Given the description of an element on the screen output the (x, y) to click on. 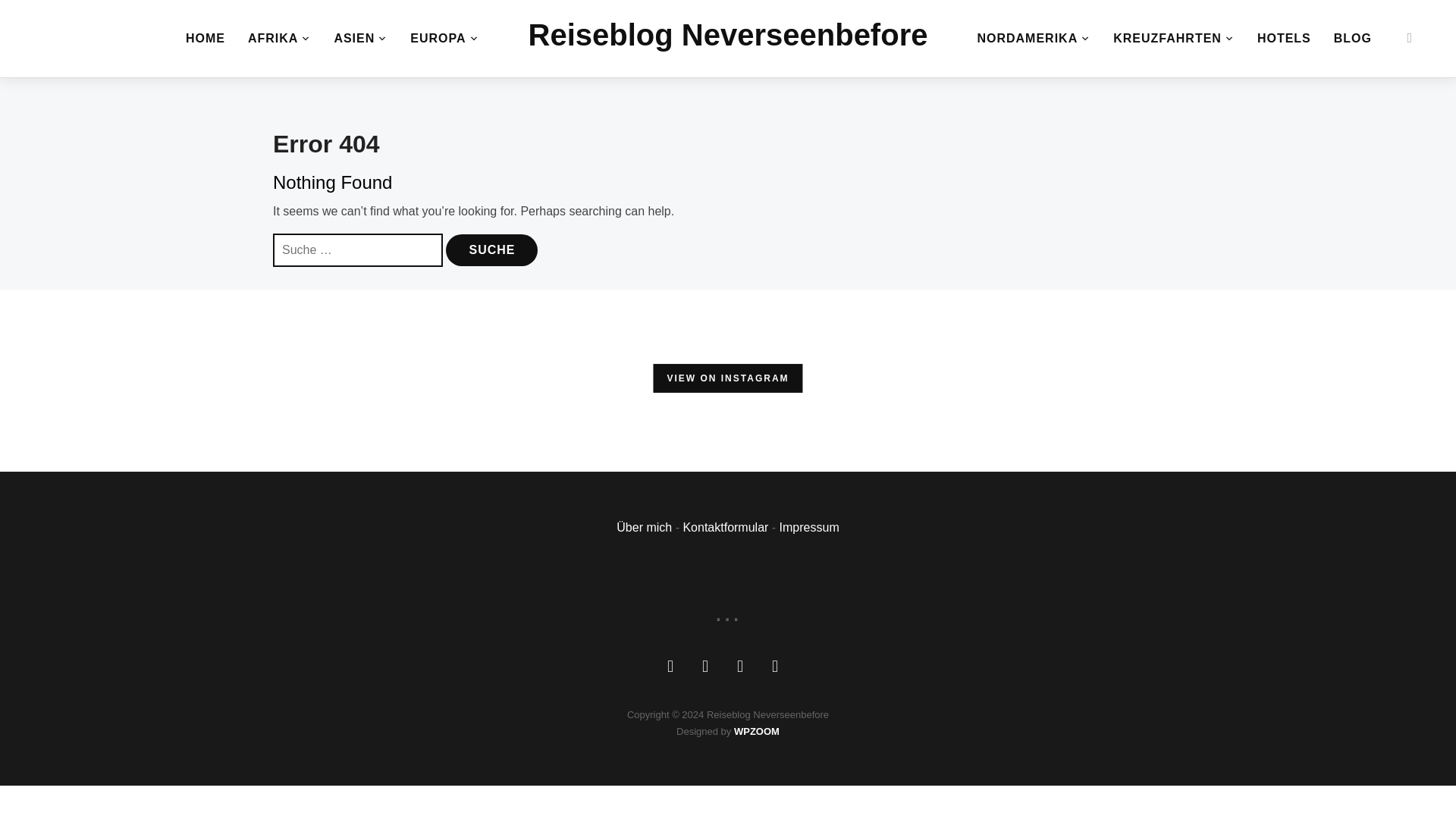
ASIEN (360, 38)
Suche (491, 250)
Reiseblog Neverseenbefore (728, 34)
EUROPA (444, 38)
Suche (491, 250)
NORDAMERIKA (1033, 38)
HOME (205, 38)
AFRIKA (279, 38)
